Given the description of an element on the screen output the (x, y) to click on. 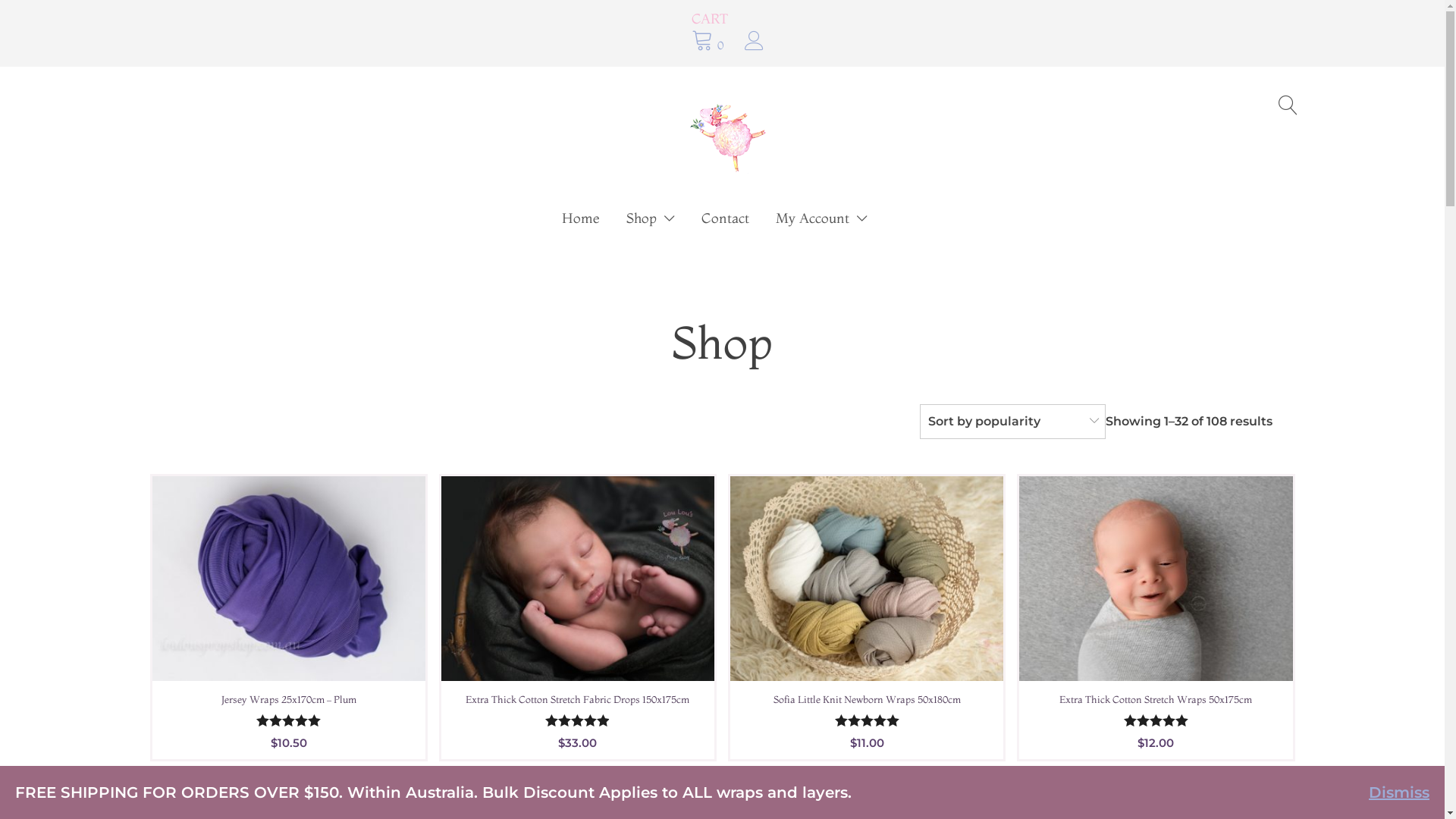
Home Element type: text (580, 217)
Dismiss Element type: text (1398, 792)
Shop Element type: text (650, 217)
Contact Element type: text (725, 217)
My Account Element type: text (821, 217)
0 Element type: text (709, 41)
